Given the description of an element on the screen output the (x, y) to click on. 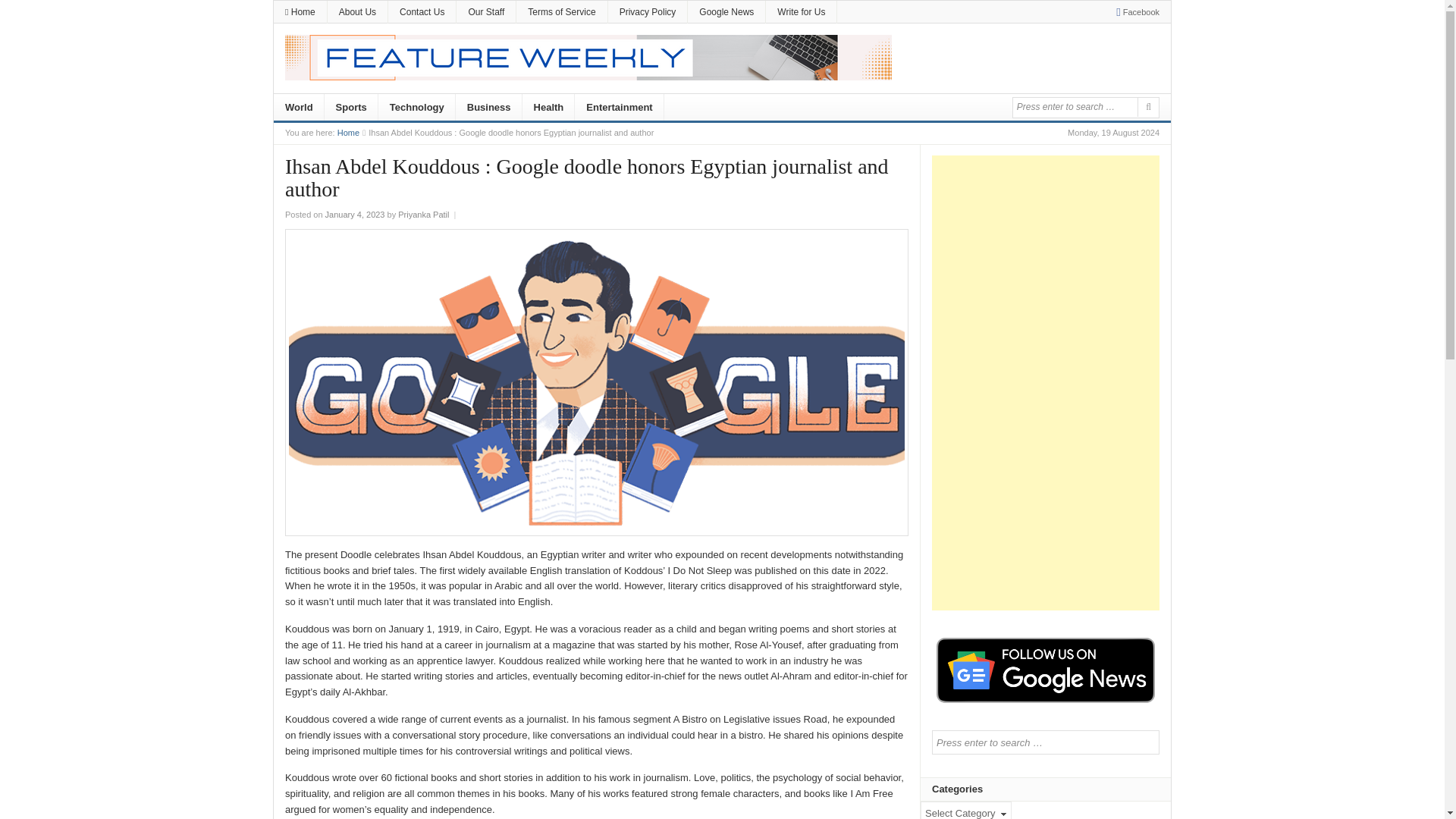
Health (548, 108)
Write for Us (800, 11)
January 4, 2023 (354, 214)
Business (488, 108)
Priyanka Patil (422, 214)
World (298, 108)
Google News (726, 11)
About Us (357, 11)
Entertainment (619, 108)
Home (299, 11)
